Given the description of an element on the screen output the (x, y) to click on. 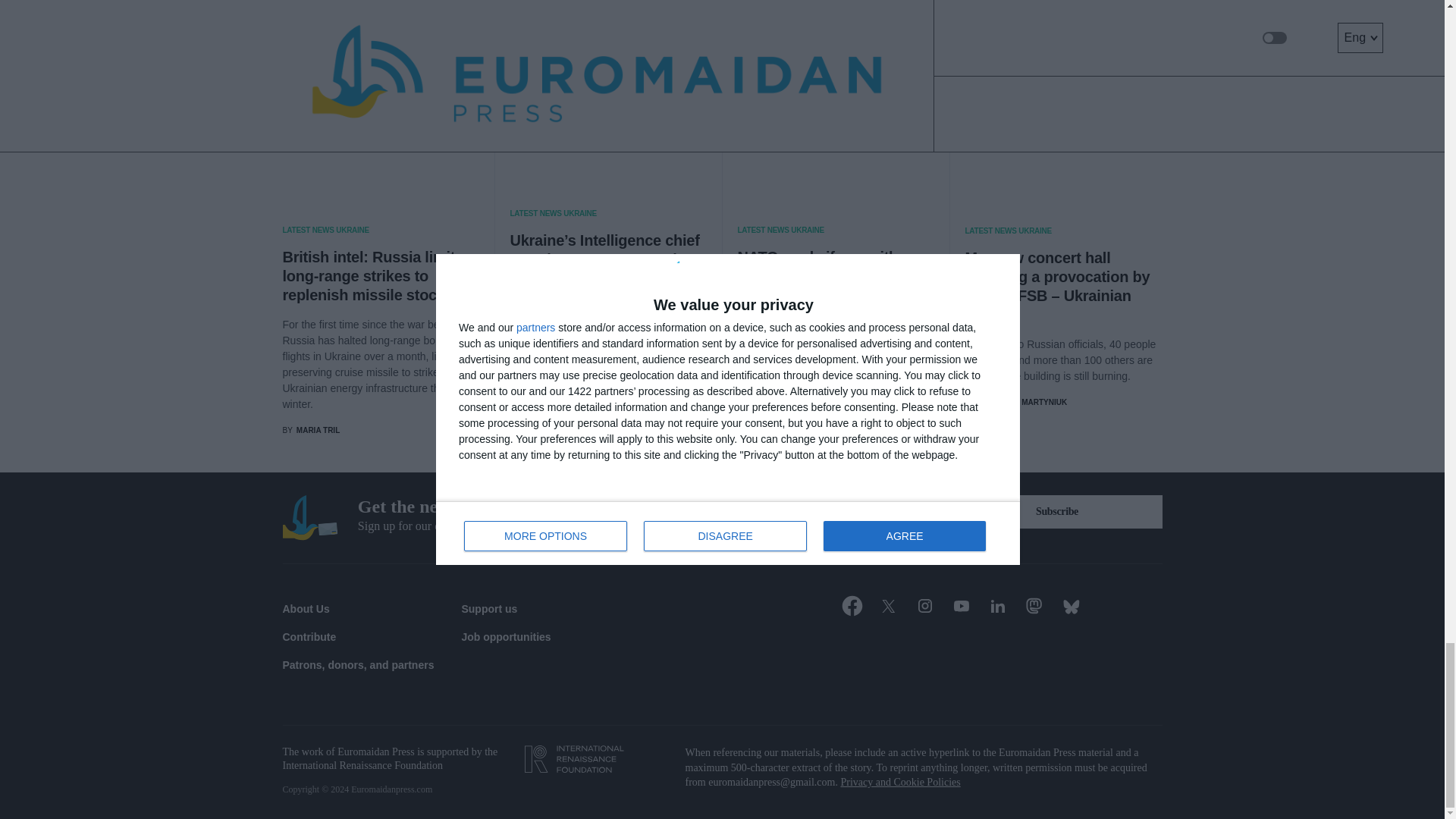
View all posts by Yevheniia Martyniuk (788, 417)
View all posts by Orysia Hrudka (547, 403)
View all posts by Yevheniia Martyniuk (1015, 401)
Subscribe (1056, 511)
View all posts by Maria Tril (310, 430)
